Given the description of an element on the screen output the (x, y) to click on. 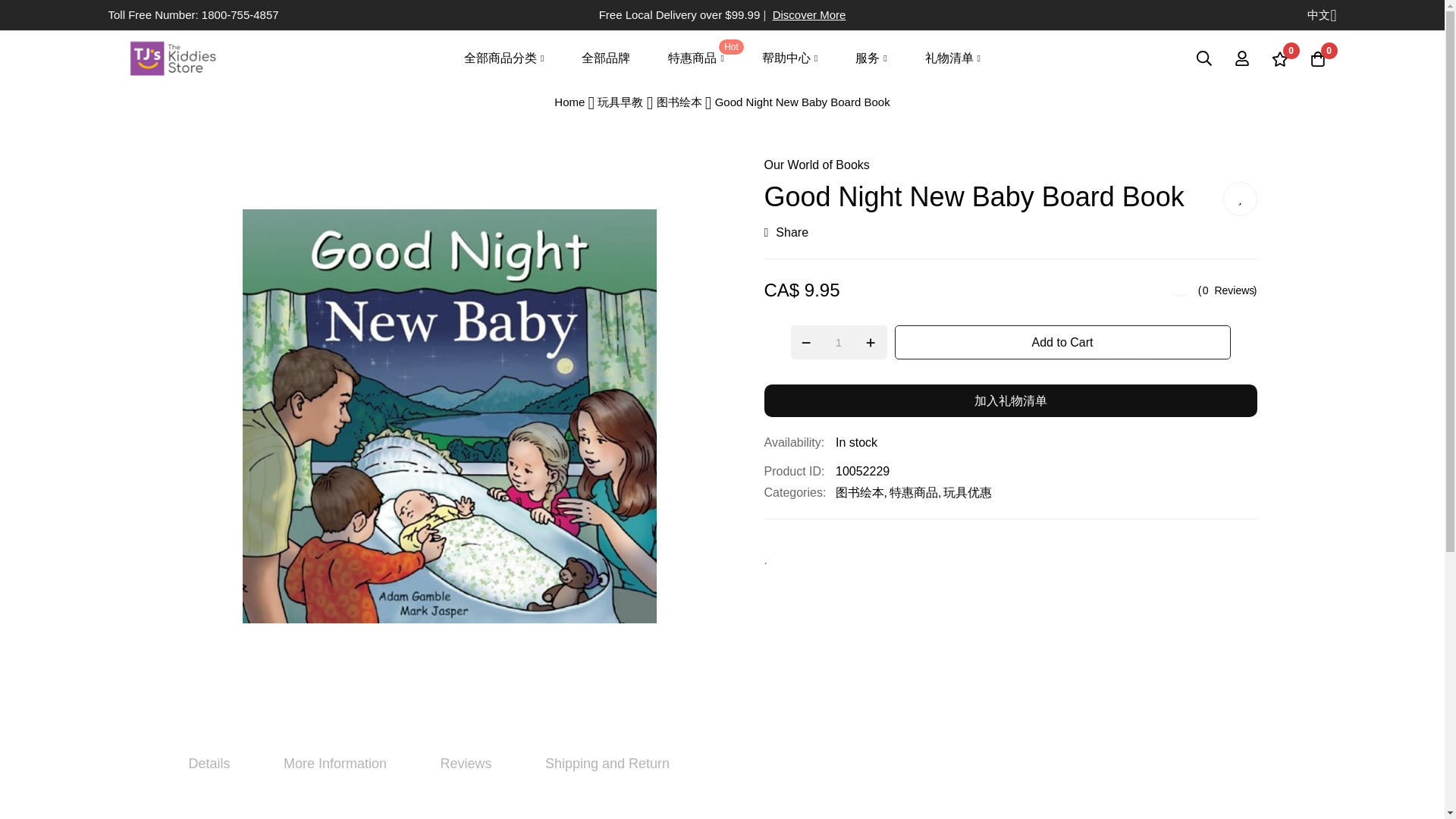
1 (839, 341)
TJ's The Kiddies Store (171, 57)
Go to Home Page (571, 101)
Discover More (809, 14)
